Given the description of an element on the screen output the (x, y) to click on. 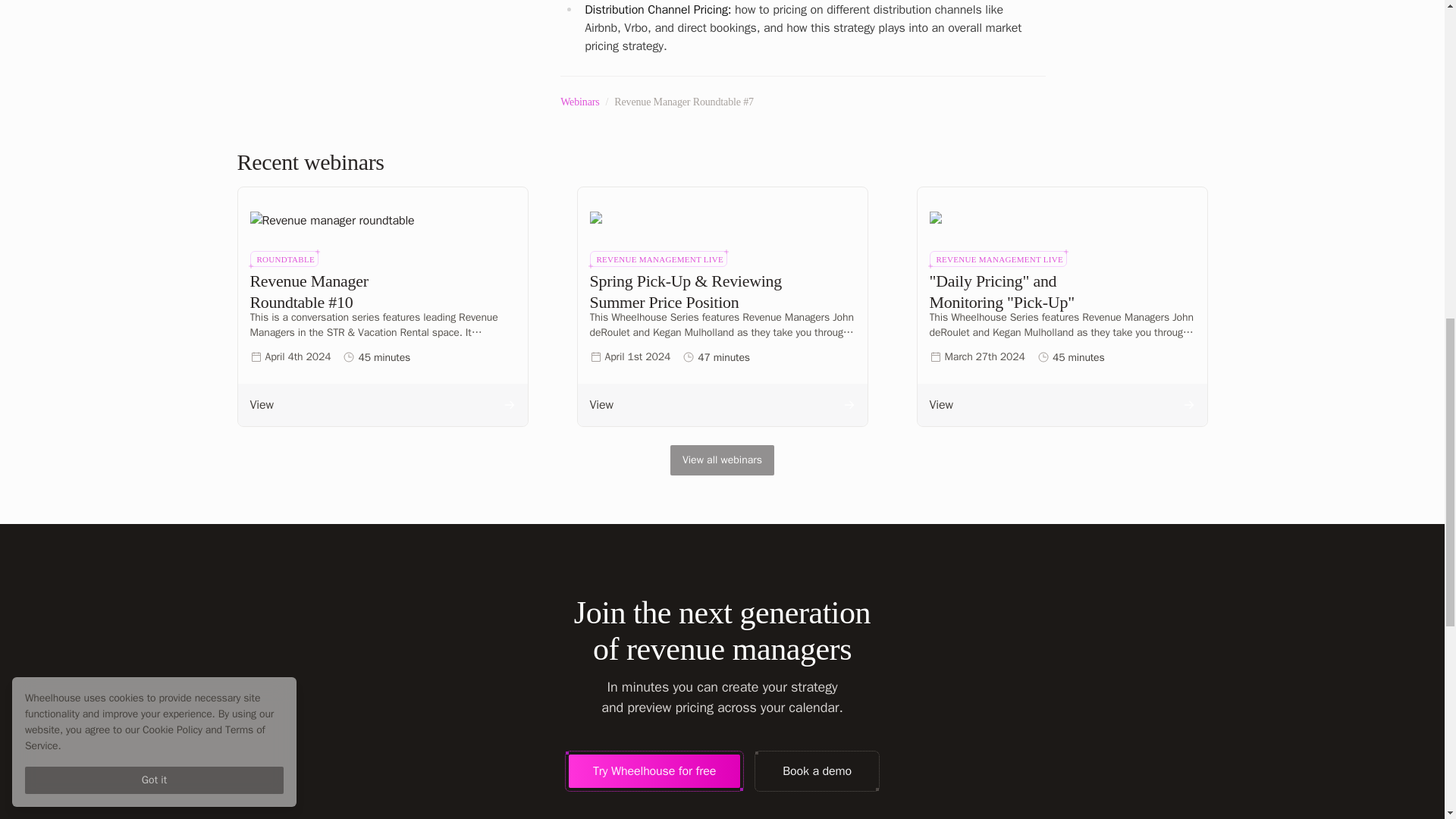
View (722, 404)
Webinars (579, 102)
View (1062, 404)
Book a demo (817, 770)
View all webinars (721, 460)
View (382, 404)
Try Wheelhouse for free (654, 770)
